Given the description of an element on the screen output the (x, y) to click on. 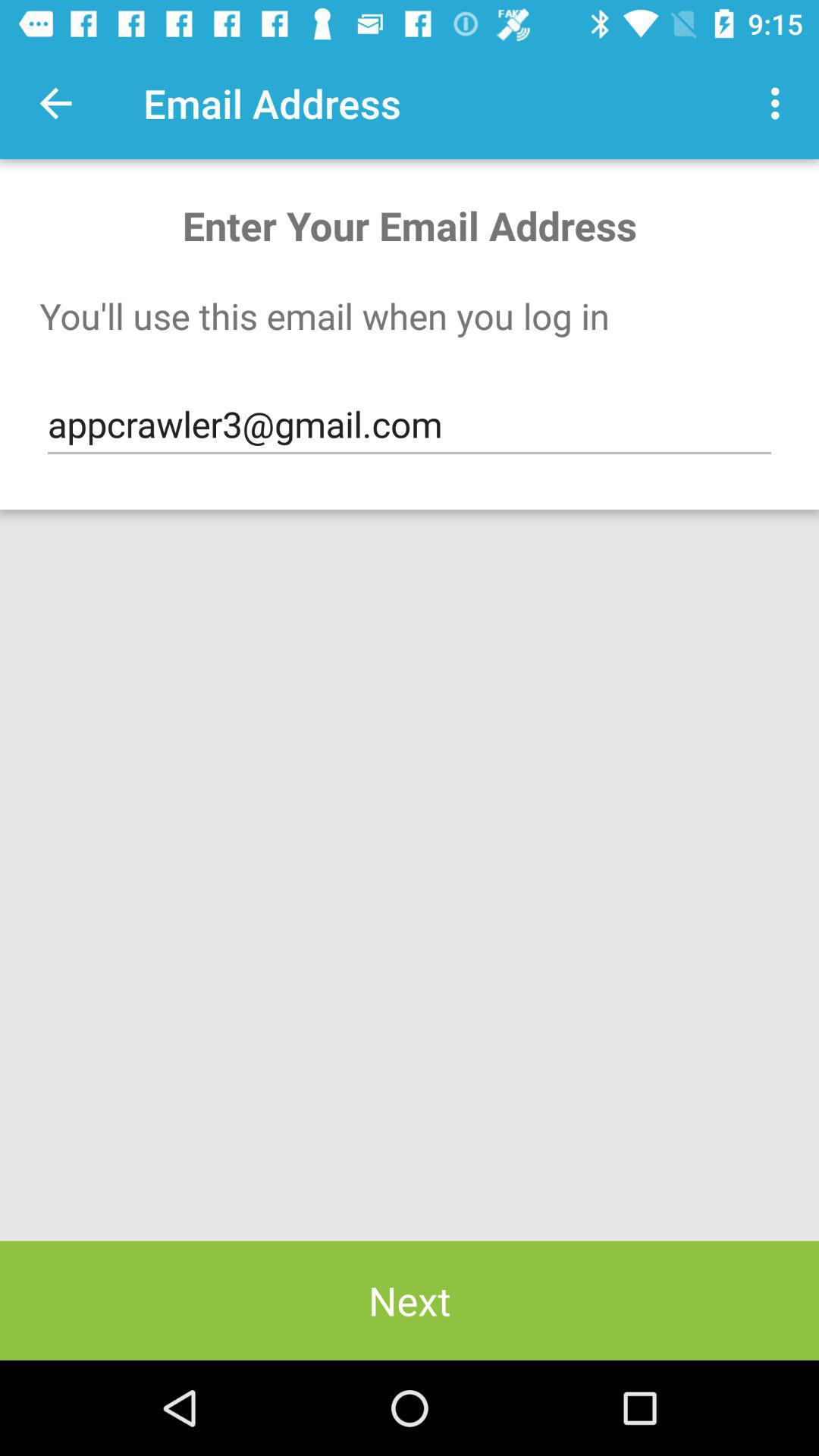
jump to next icon (409, 1300)
